Given the description of an element on the screen output the (x, y) to click on. 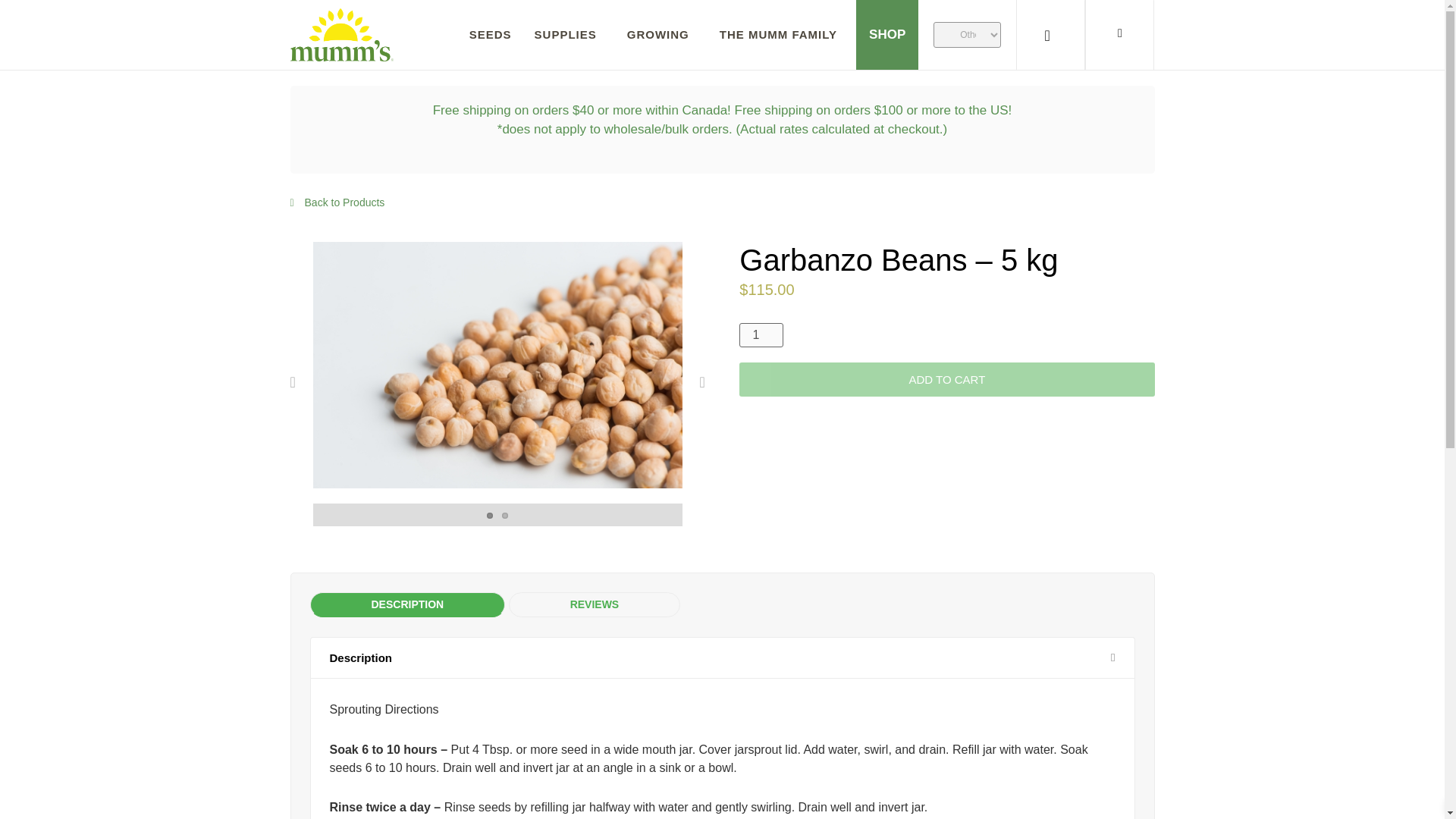
SHOP (887, 34)
THE MUMM FAMILY (781, 34)
GROWING (661, 34)
Garbanzo Bean Seed W2 medium (497, 364)
SEEDS (490, 34)
SUPPLIES (568, 34)
1 (761, 334)
